Given the description of an element on the screen output the (x, y) to click on. 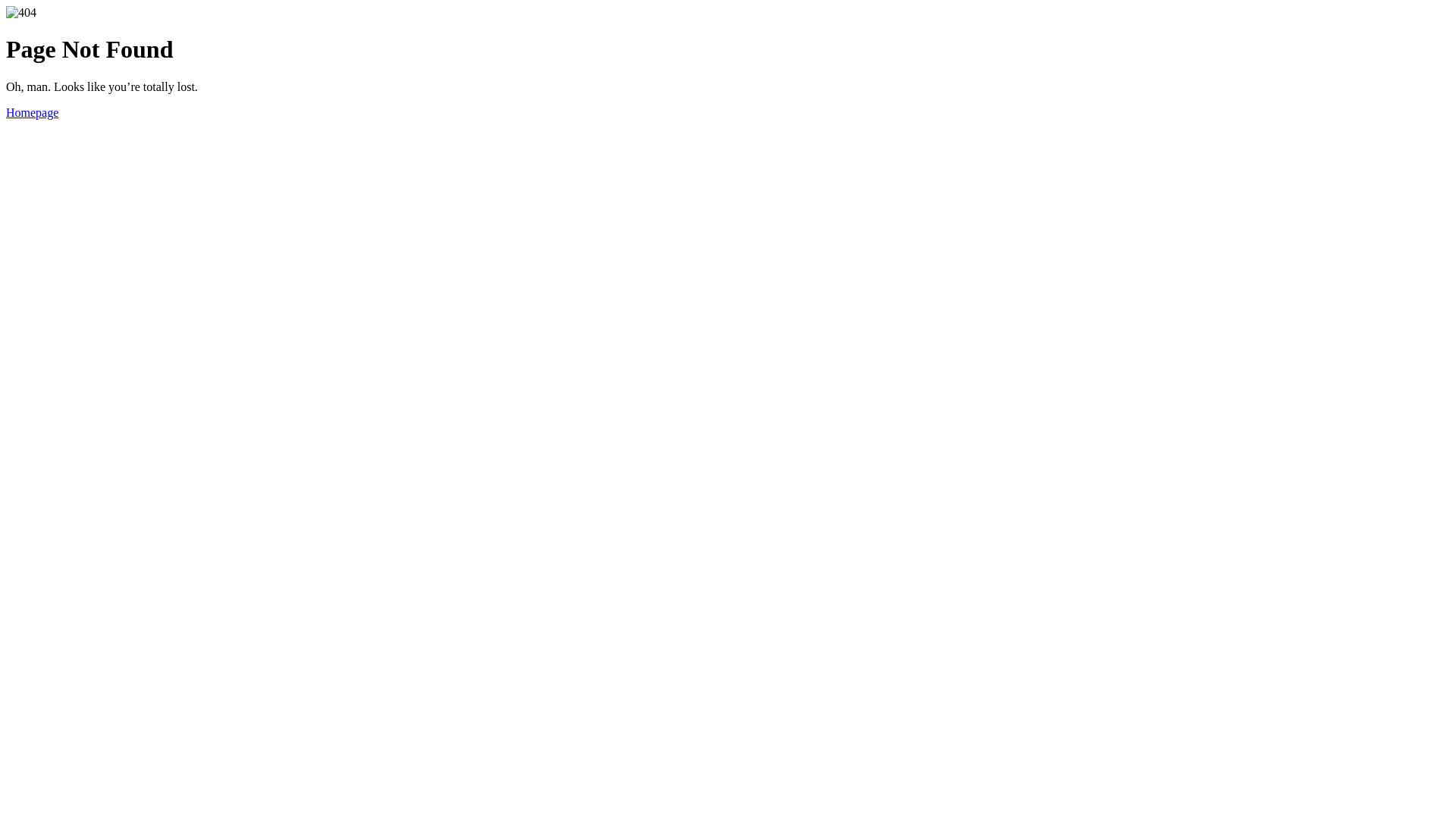
Homepage Element type: text (32, 112)
